Given the description of an element on the screen output the (x, y) to click on. 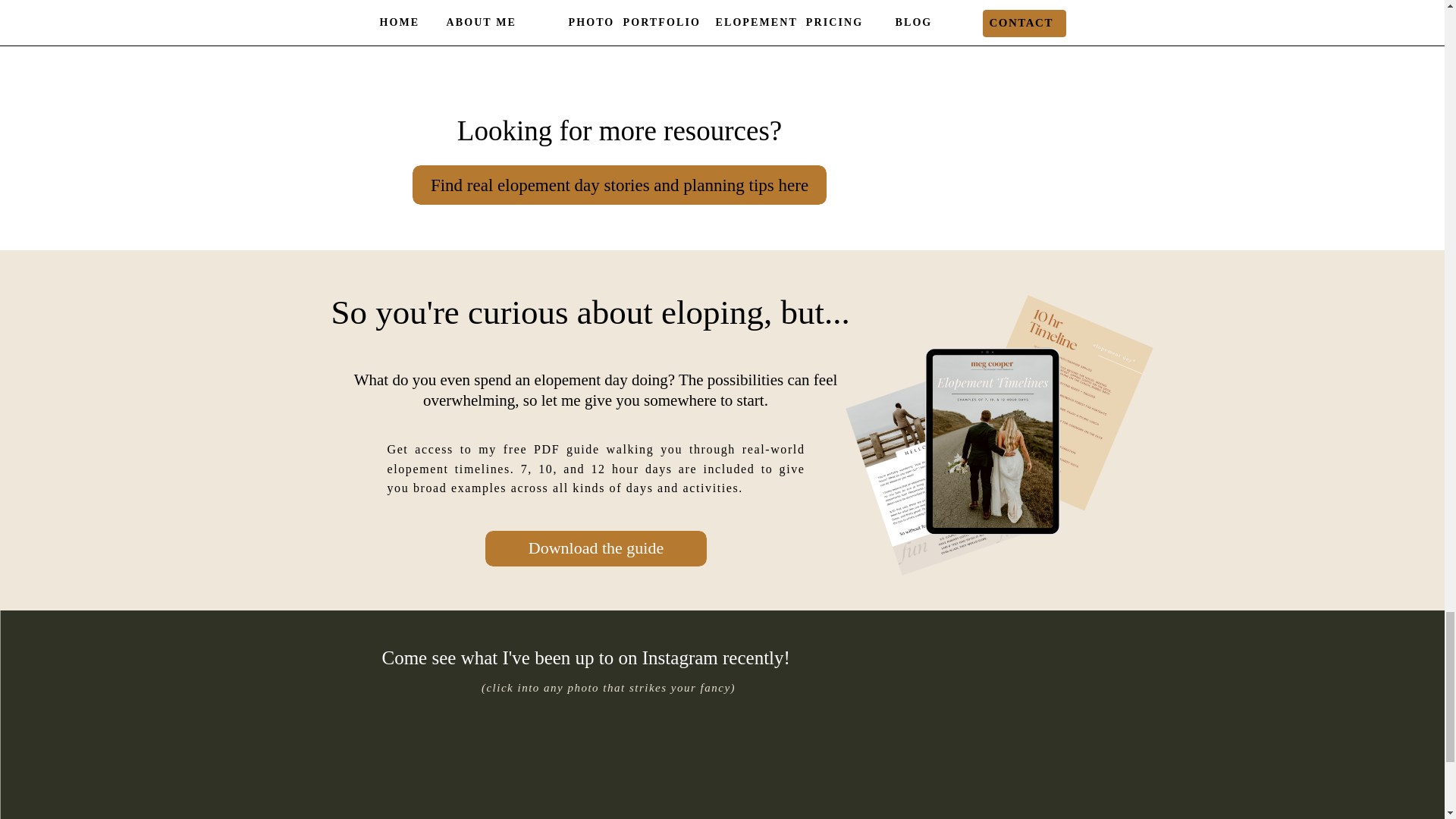
Find real elopement day stories and planning tips here (618, 184)
Download the guide (595, 547)
